Given the description of an element on the screen output the (x, y) to click on. 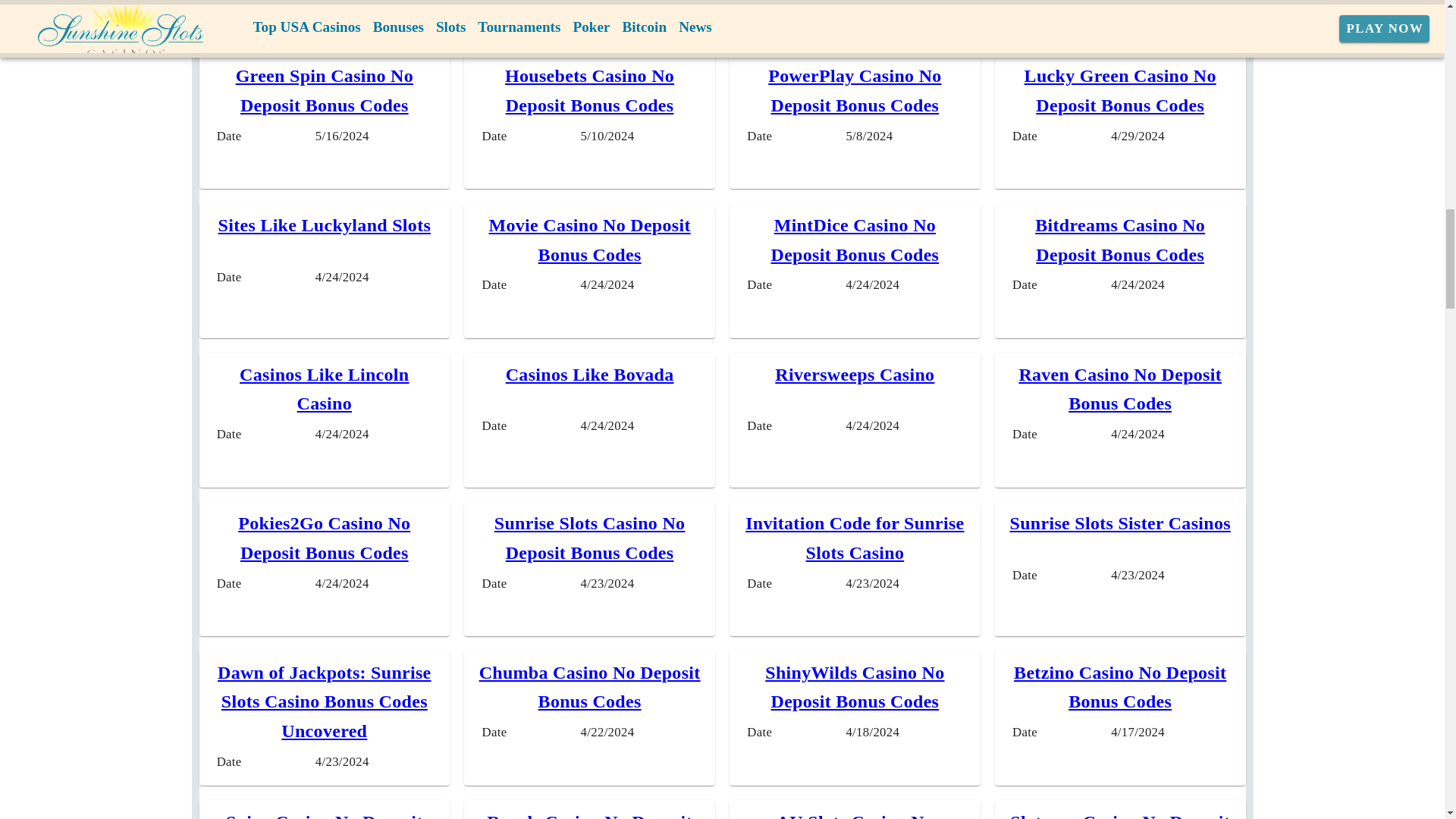
Lucky Green Casino No Deposit Bonus Codes (1120, 90)
PowerPlay Casino No Deposit Bonus Codes (854, 90)
Green Spin Casino No Deposit Bonus Codes (324, 90)
Housebets Casino No Deposit Bonus Codes (589, 90)
Sites Like Luckyland Slots (324, 225)
